Given the description of an element on the screen output the (x, y) to click on. 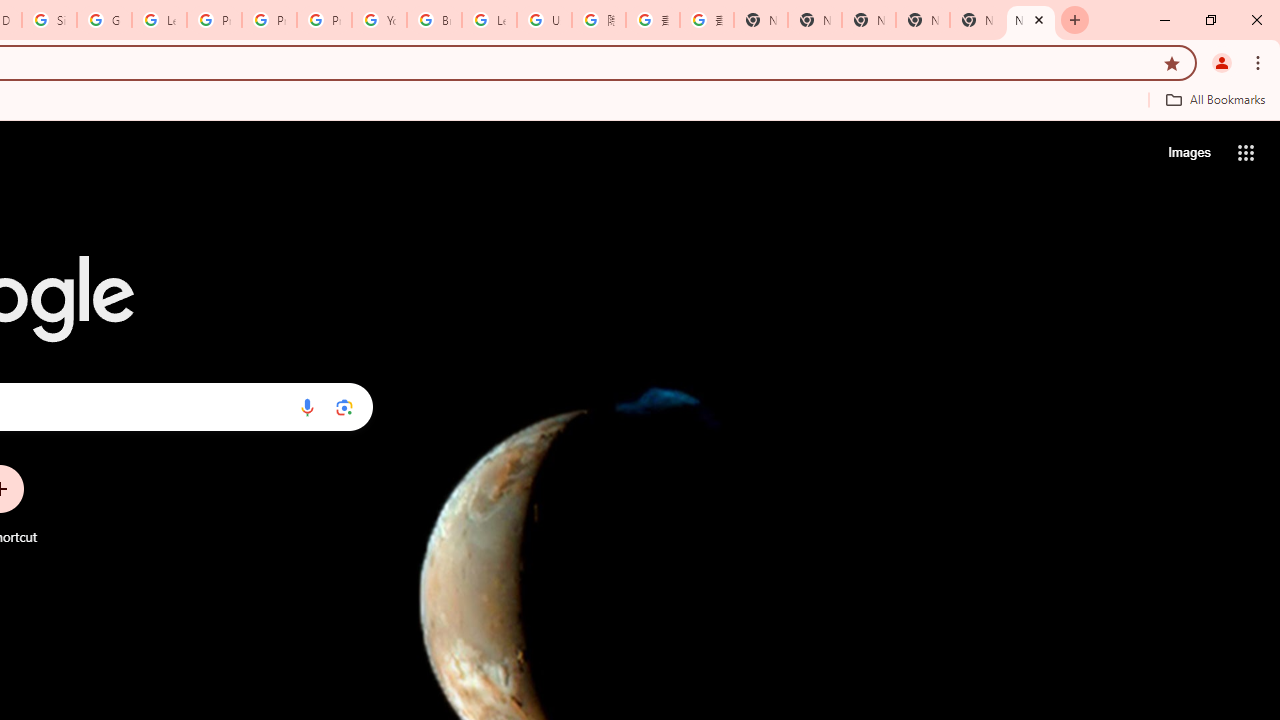
New Tab (976, 20)
Sign in - Google Accounts (48, 20)
New Tab (760, 20)
Privacy Help Center - Policies Help (268, 20)
New Tab (1030, 20)
